Given the description of an element on the screen output the (x, y) to click on. 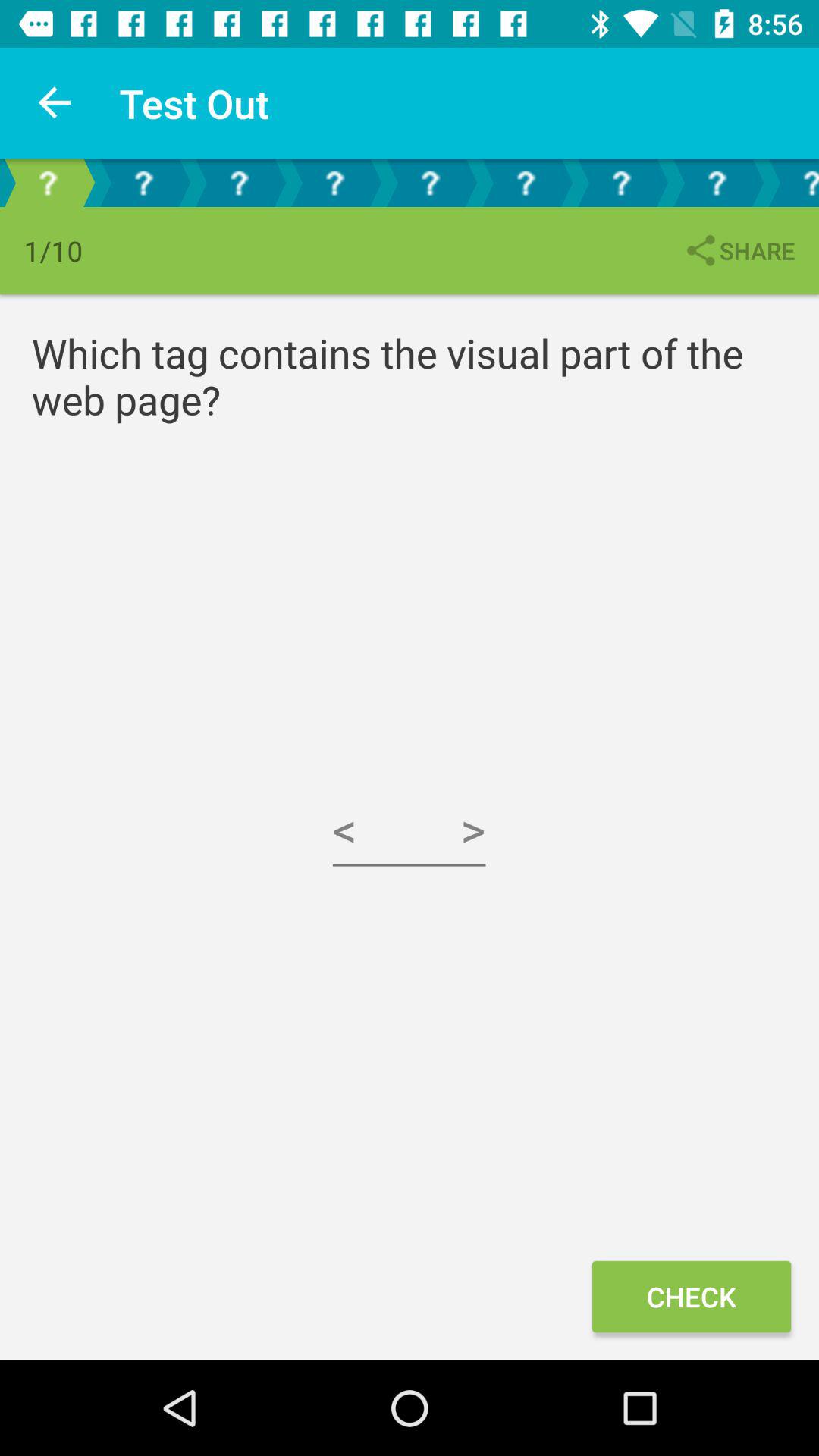
click on second question icon (142, 182)
go to the third question icon from the left (238, 182)
click on the fourth question icon from right (525, 182)
select the eighth icon which is above the text share (716, 182)
select 9th question mark which is at right side of the page (791, 182)
move to the fifth question mark which is under the text test out (429, 182)
